Given the description of an element on the screen output the (x, y) to click on. 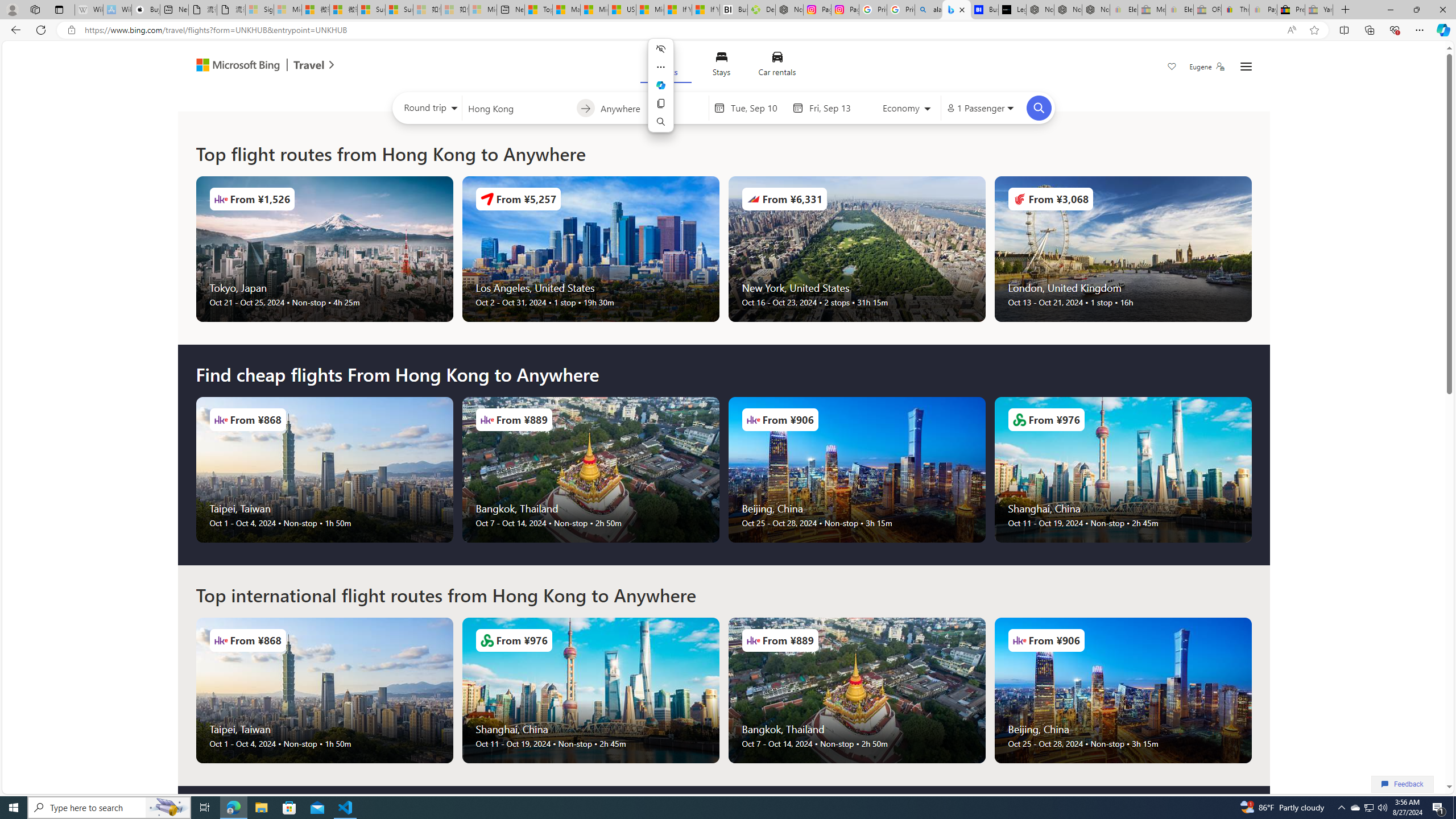
Mini menu on text selection (659, 84)
1 Passenger (979, 108)
Press Room - eBay Inc. (1291, 9)
US Heat Deaths Soared To Record High Last Year (621, 9)
to (584, 108)
Save (1171, 67)
End date (836, 107)
